Given the description of an element on the screen output the (x, y) to click on. 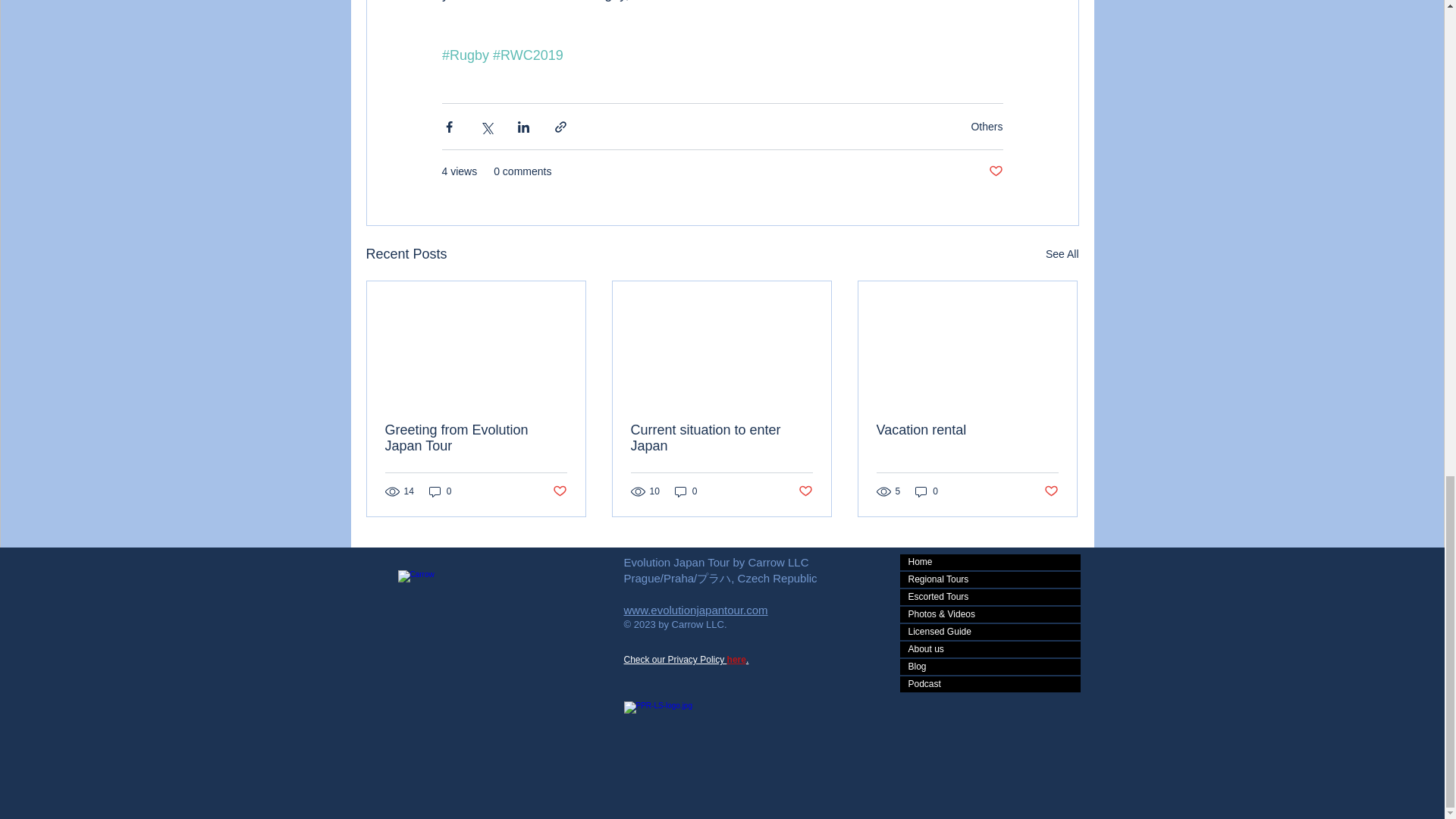
Prague Park Race (708, 733)
